Given the description of an element on the screen output the (x, y) to click on. 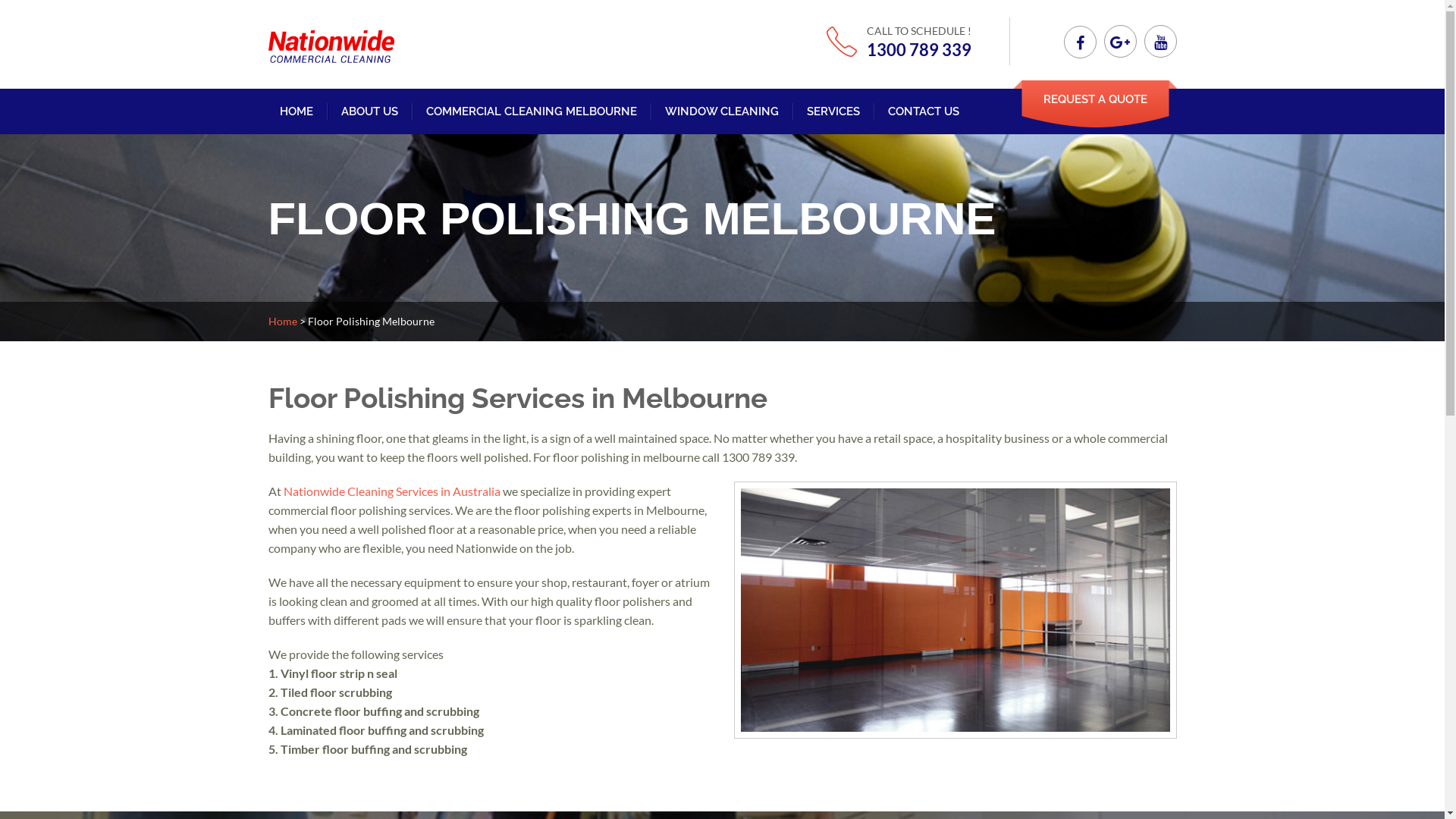
Floor Polishing Melbourne 1 Element type: hover (955, 609)
COMMERCIAL CLEANING MELBOURNE Element type: text (531, 111)
CONTACT US Element type: text (922, 111)
NATIONWIDE COMMERCIAL CLEANING Element type: text (372, 113)
REQUEST A QUOTE Element type: text (1094, 103)
HOME Element type: text (295, 111)
Home Element type: text (282, 320)
ABOUT US Element type: text (369, 111)
1300 789 339 Element type: text (918, 49)
Nationwide Cleaning Services in Australia Element type: text (391, 490)
SERVICES Element type: text (832, 111)
WINDOW CLEANING Element type: text (721, 111)
